Given the description of an element on the screen output the (x, y) to click on. 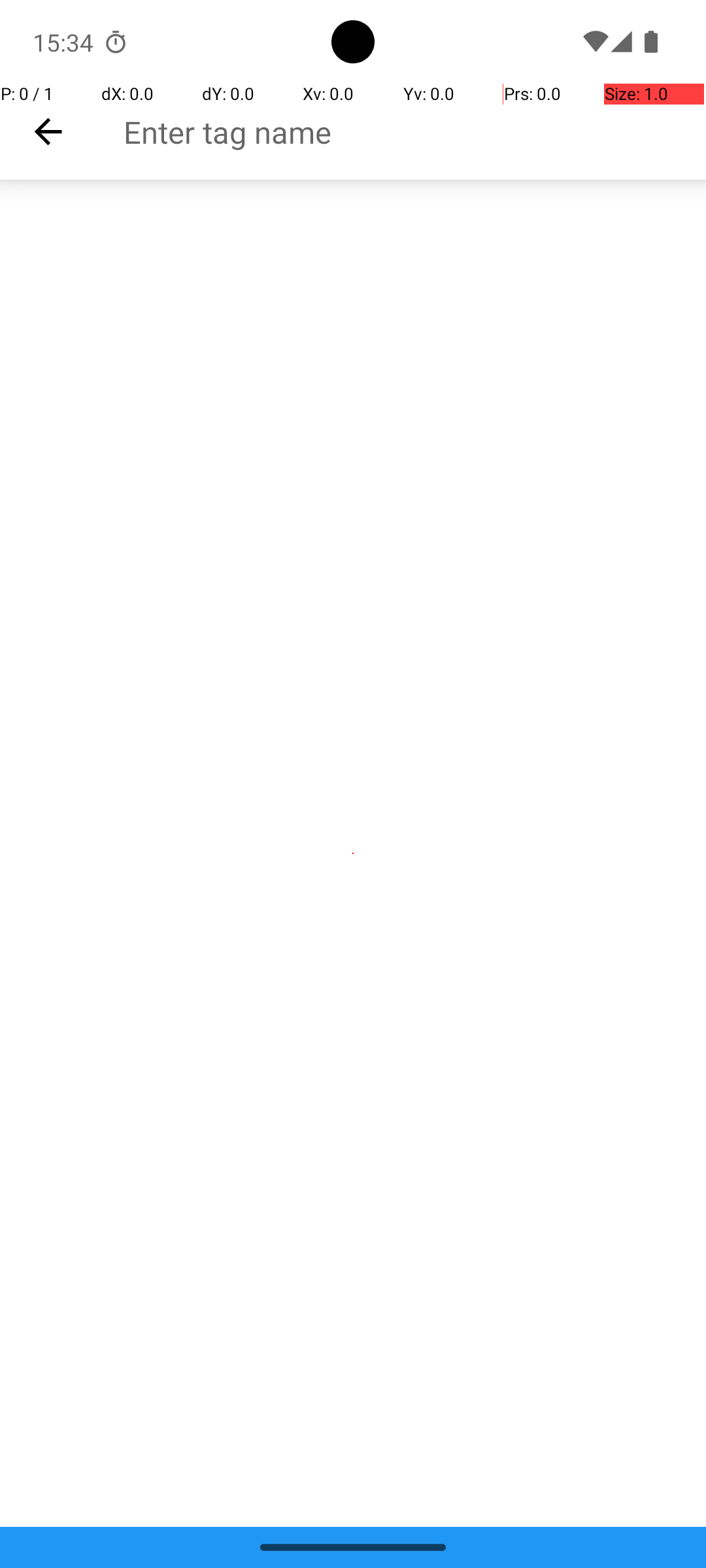
Enter tag name Element type: android.widget.EditText (414, 131)
